Given the description of an element on the screen output the (x, y) to click on. 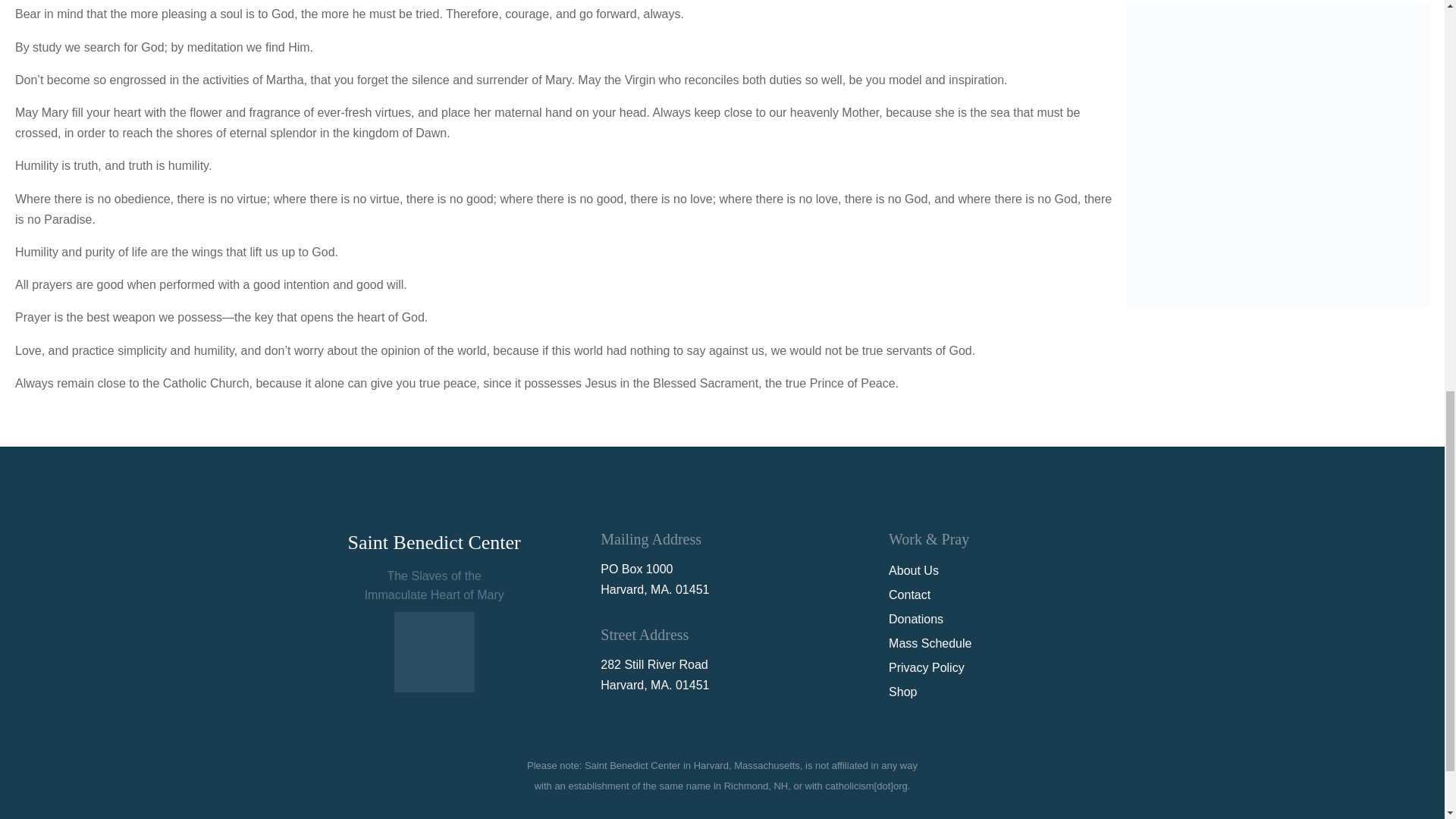
Donations (915, 618)
Privacy Policy (925, 667)
Mass Schedule (929, 643)
Shop (902, 691)
Contact (909, 594)
About Us (913, 570)
